Given the description of an element on the screen output the (x, y) to click on. 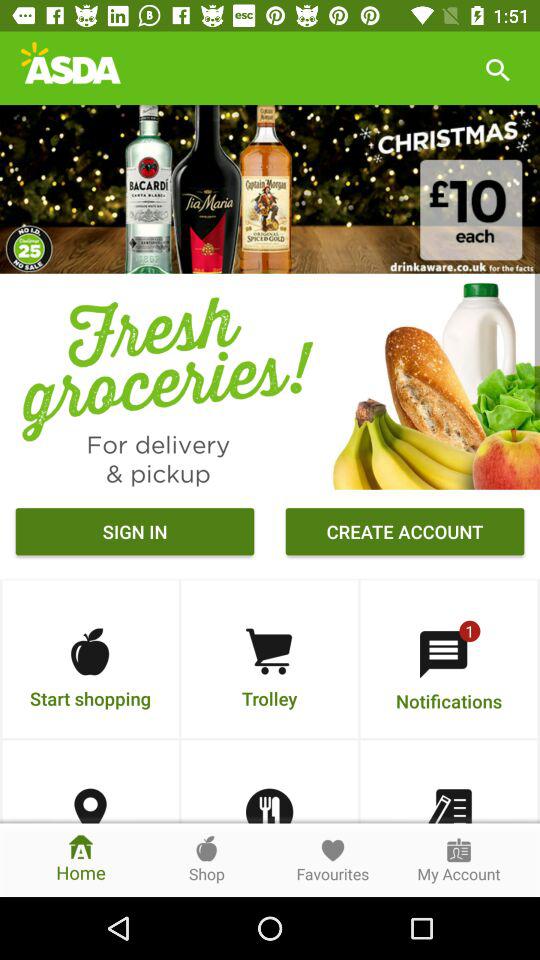
press icon above the 1 (404, 534)
